Given the description of an element on the screen output the (x, y) to click on. 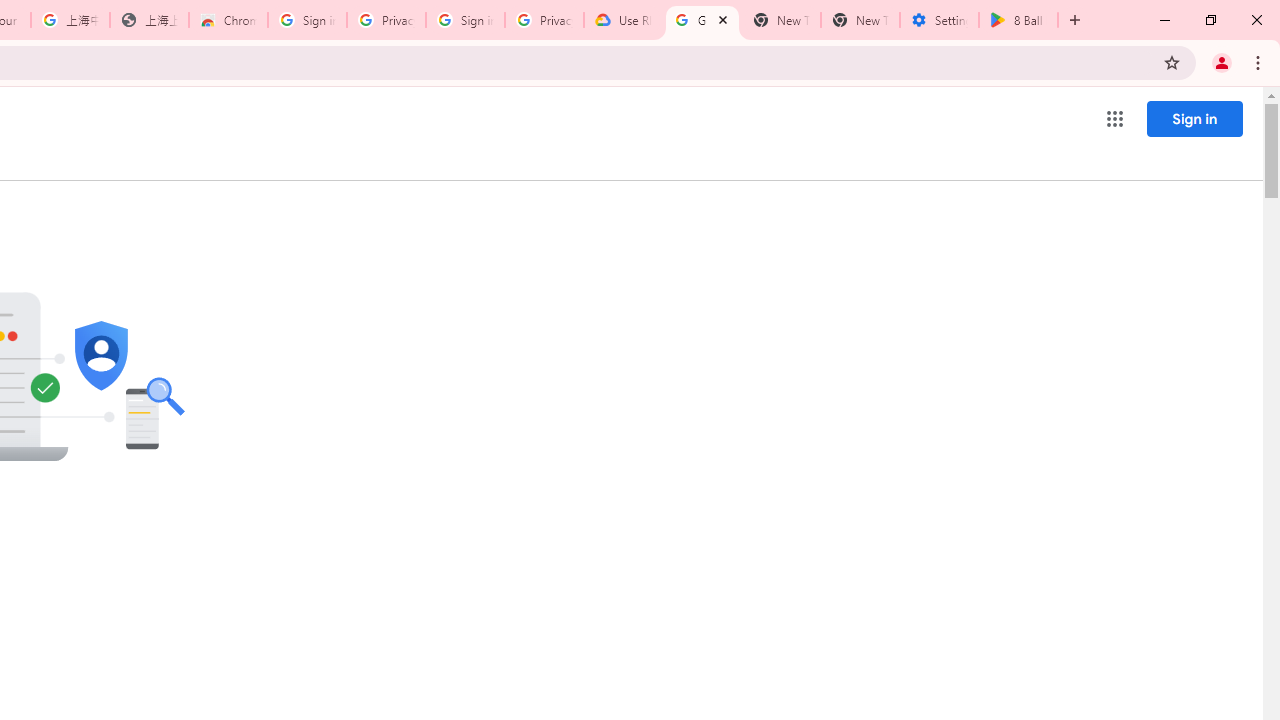
Chrome Web Store - Color themes by Chrome (228, 20)
Sign in (1194, 118)
